Given the description of an element on the screen output the (x, y) to click on. 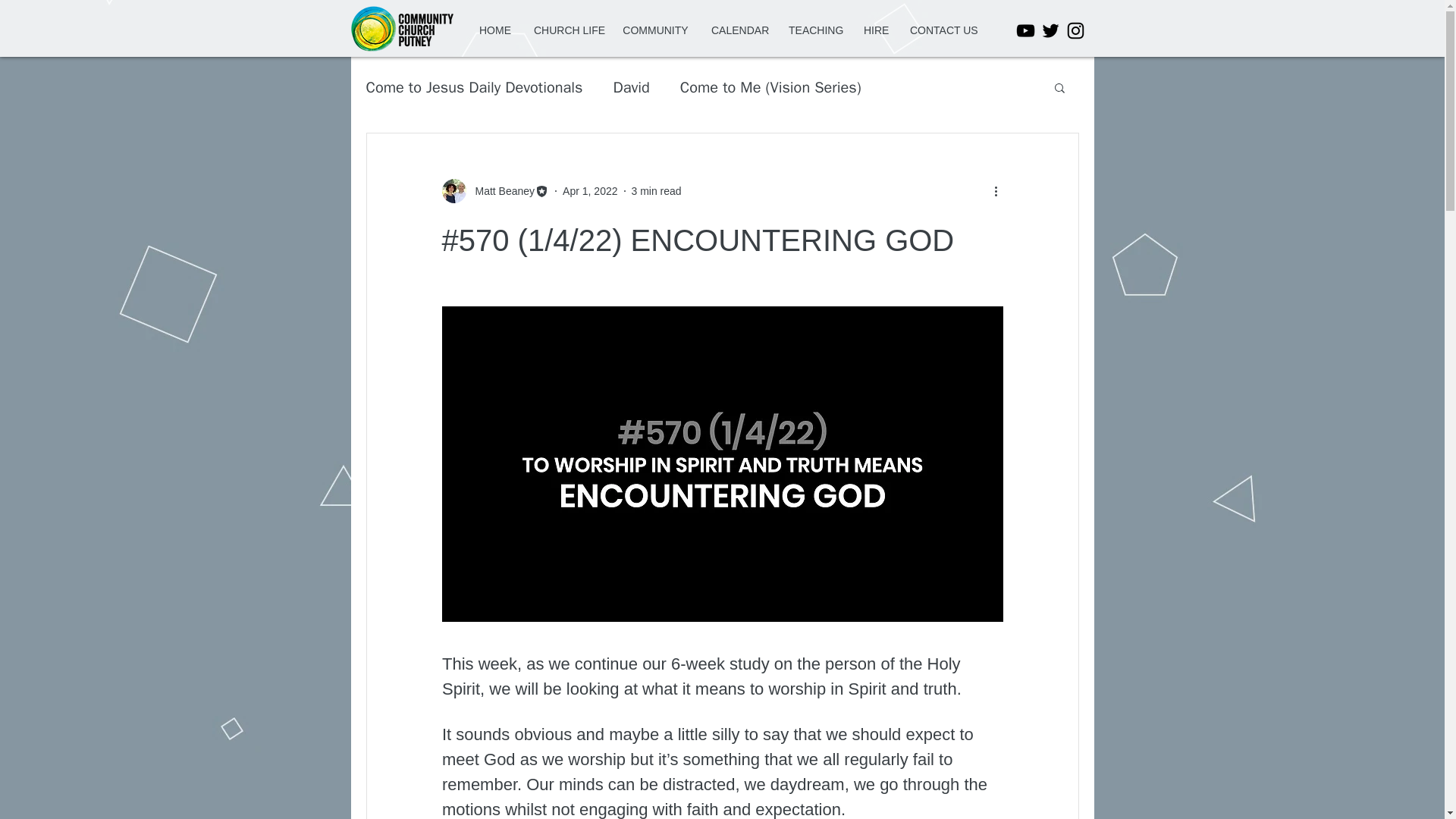
HOME (494, 29)
HIRE (874, 29)
3 min read (655, 191)
Matt Beaney (499, 191)
David (630, 86)
CALENDAR (738, 29)
CHURCH LIFE (566, 29)
Come to Jesus Daily Devotionals (473, 86)
COMMUNITY (655, 29)
TEACHING (814, 29)
CONTACT US (942, 29)
Apr 1, 2022 (589, 191)
